Given the description of an element on the screen output the (x, y) to click on. 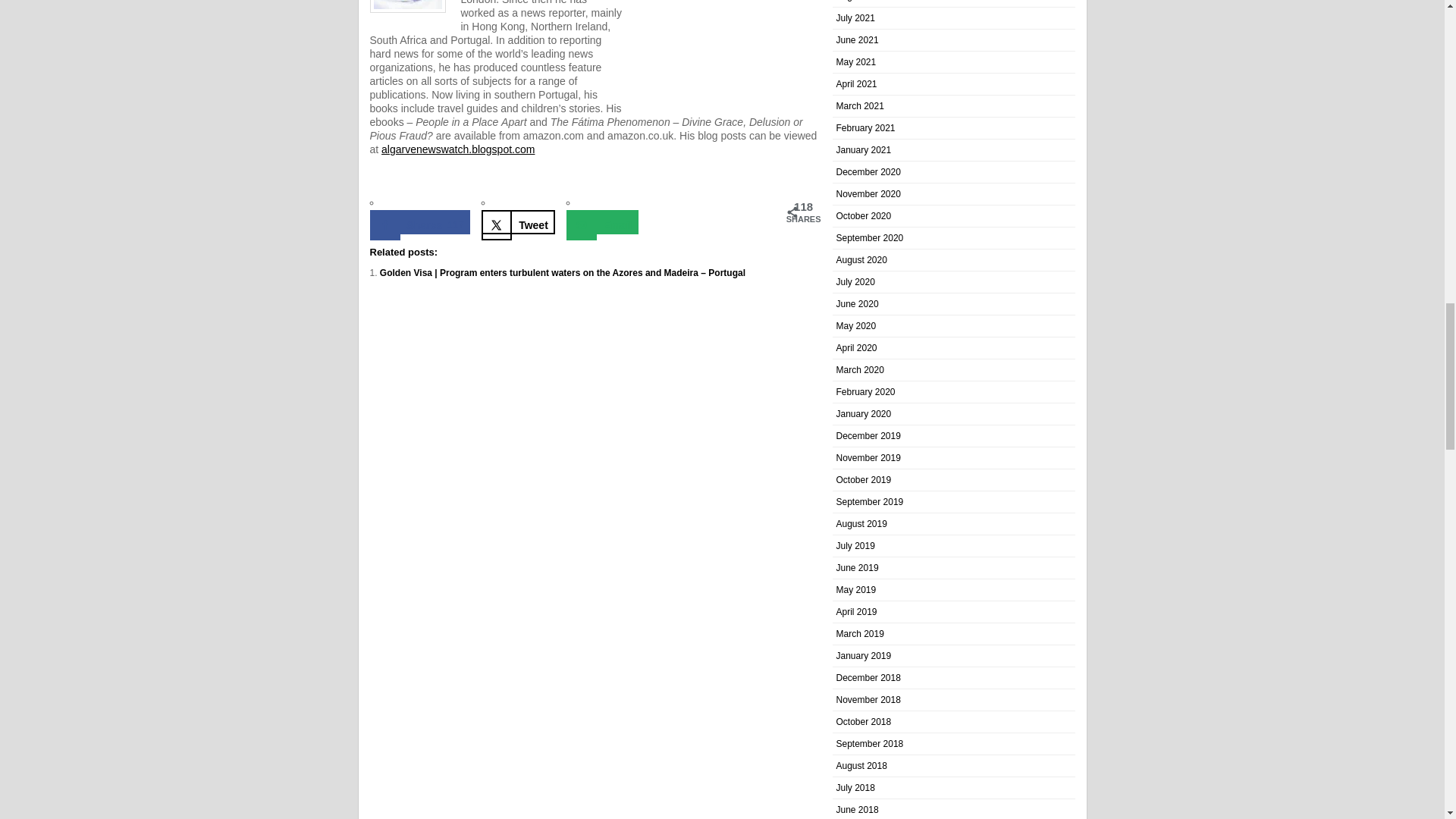
Send over email (602, 221)
Share on X (517, 221)
LP (407, 6)
Share on Facebook (419, 221)
